Given the description of an element on the screen output the (x, y) to click on. 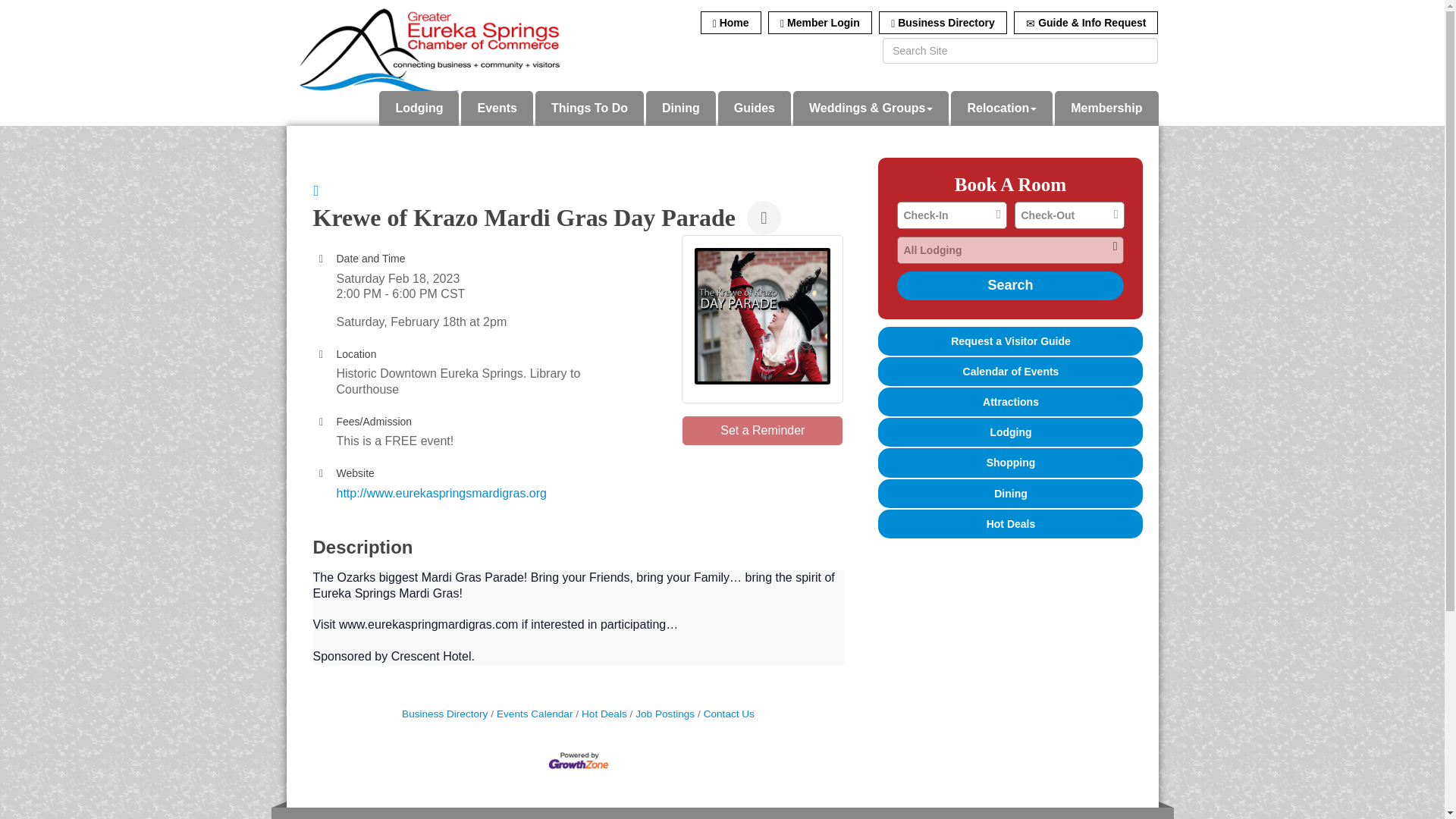
Check-Out (1069, 215)
Check In (951, 215)
Guides (753, 108)
Set a Reminder (762, 430)
Home (730, 22)
Dining (681, 108)
Membership (1105, 108)
Member Login (820, 22)
Business Directory (943, 22)
Check Out (1069, 215)
Relocation (1001, 108)
Lodging (418, 108)
Events (496, 108)
Check-In (951, 215)
Things To Do (589, 108)
